Given the description of an element on the screen output the (x, y) to click on. 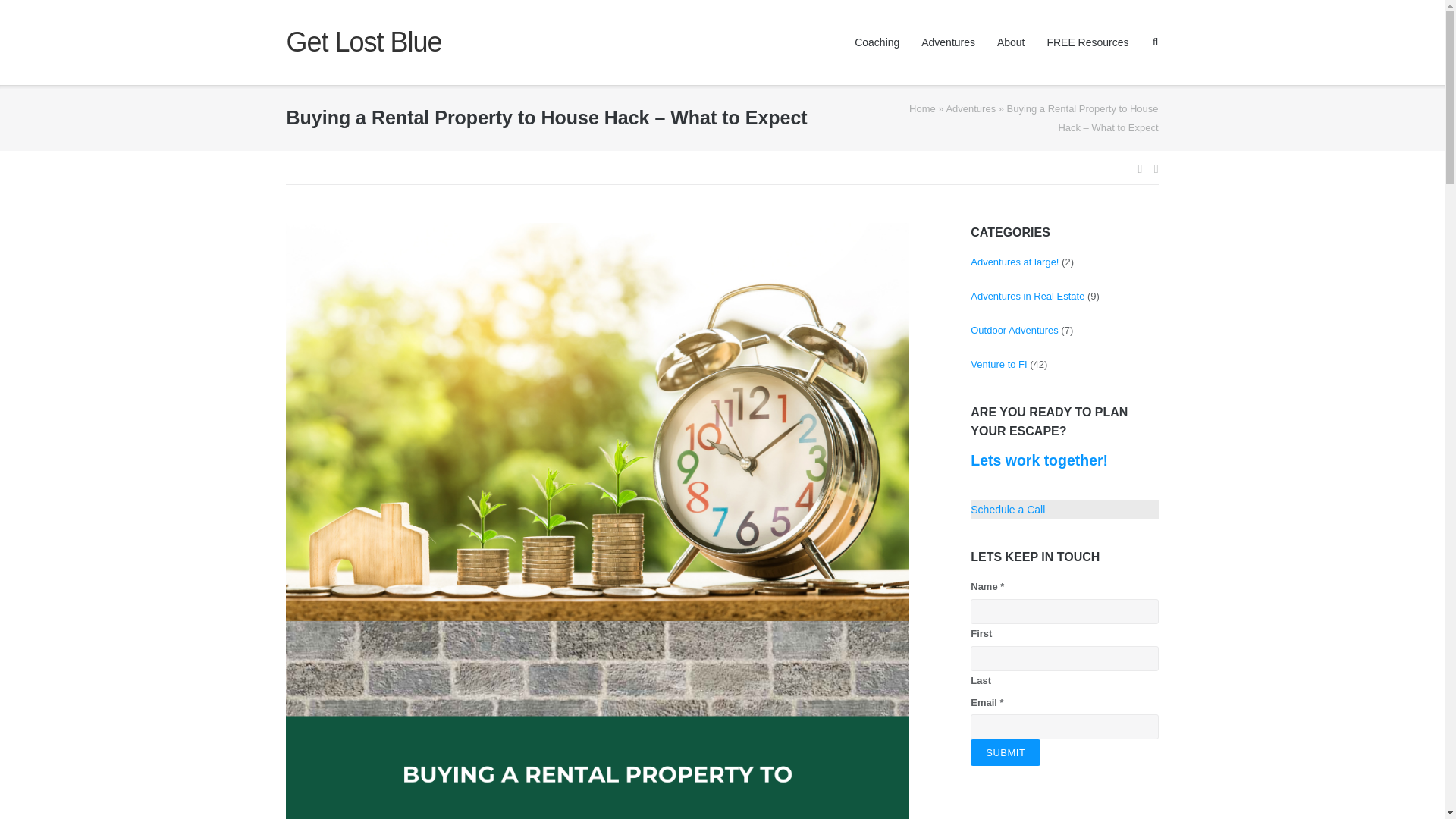
Venture to FI (998, 364)
Outdoor Adventures (1014, 329)
Adventures at large! (1014, 261)
Schedule a Call (1008, 509)
Lets work together! (1039, 460)
SUBMIT (1006, 752)
FREE Resources (1087, 42)
Adventures (969, 108)
Home (922, 108)
Adventures in Real Estate (1027, 296)
Get Lost Blue (363, 42)
